Given the description of an element on the screen output the (x, y) to click on. 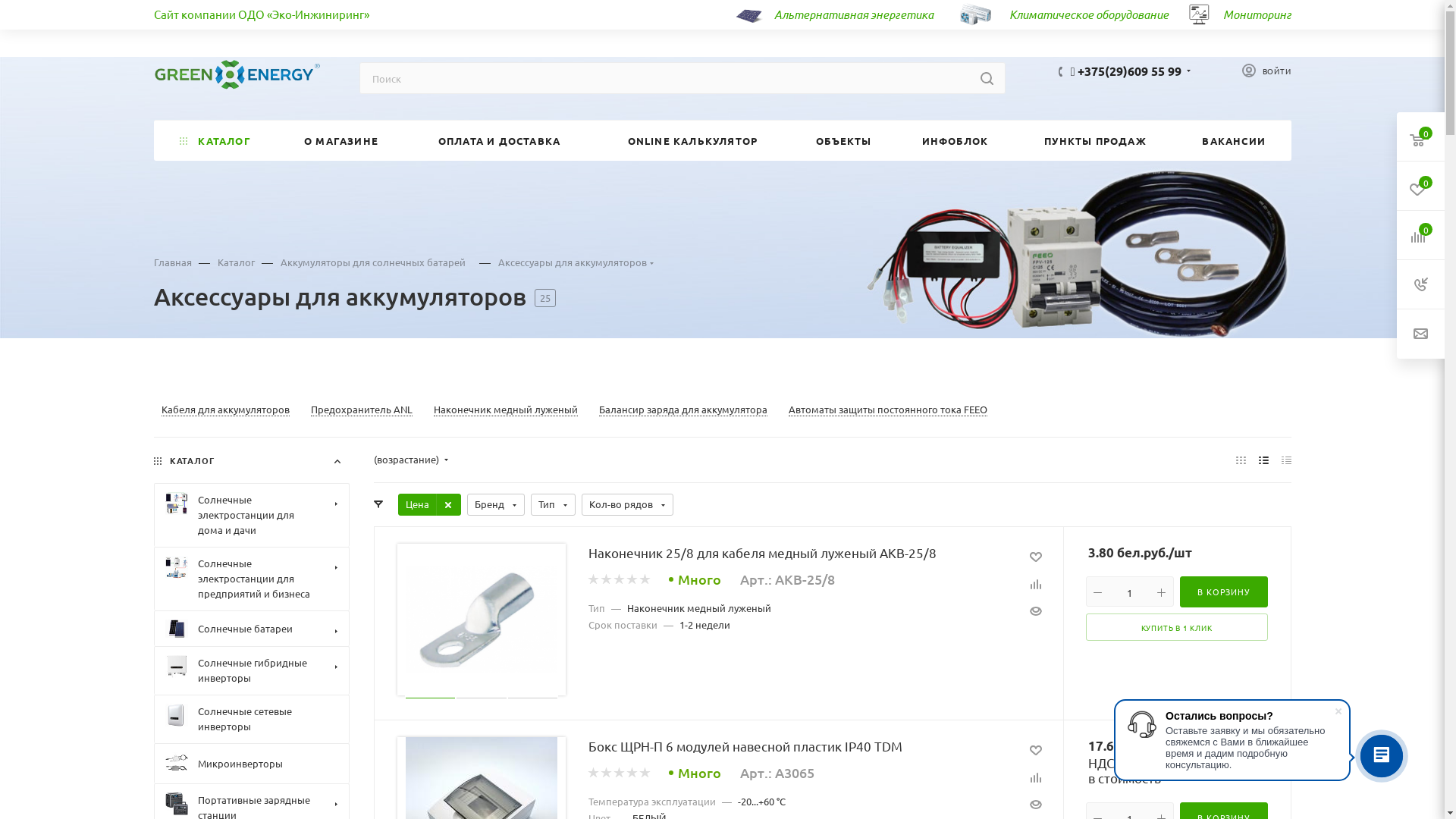
green-energy.by Element type: hover (236, 75)
